Given the description of an element on the screen output the (x, y) to click on. 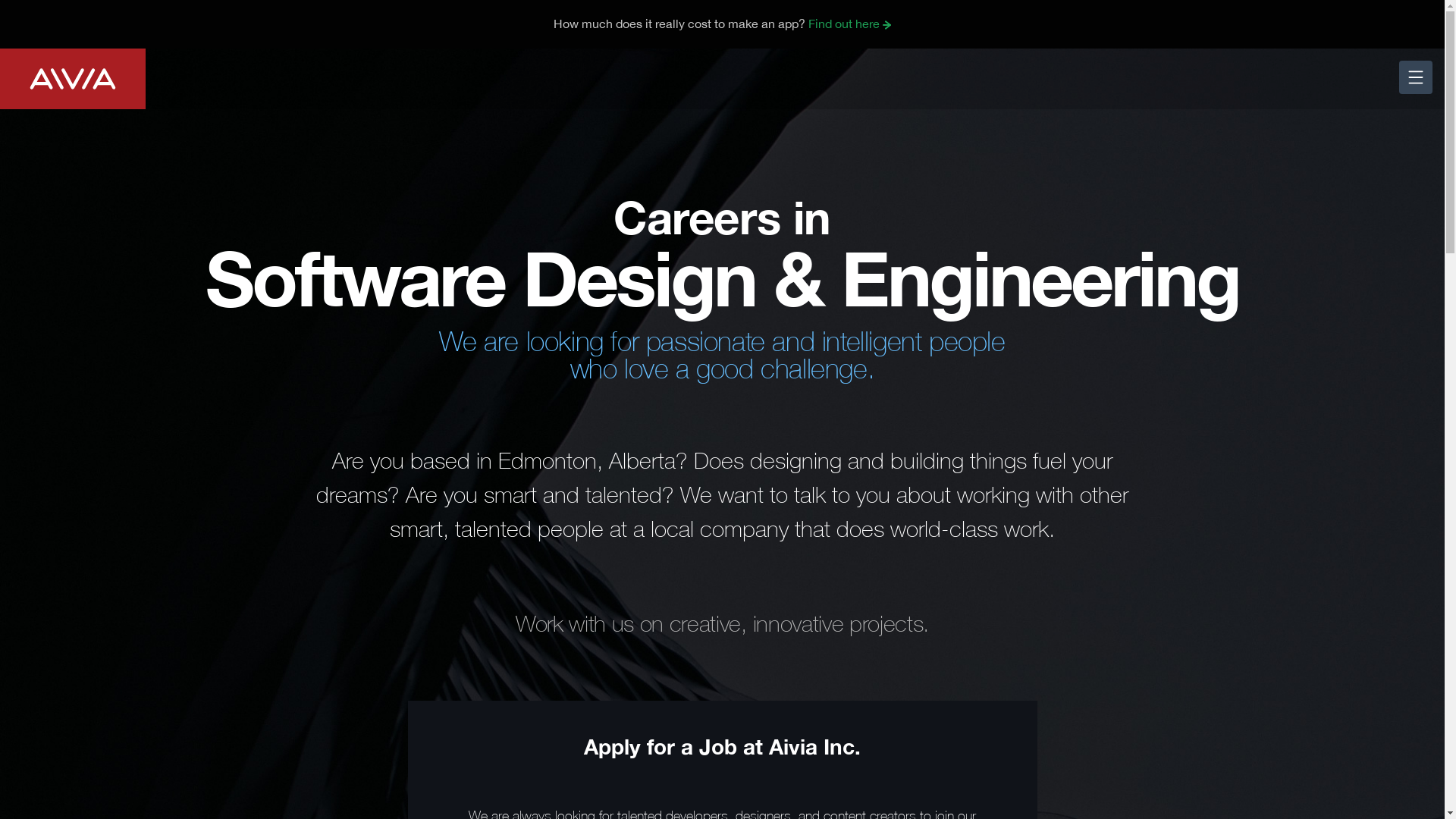
Find out here Element type: text (849, 23)
